Given the description of an element on the screen output the (x, y) to click on. 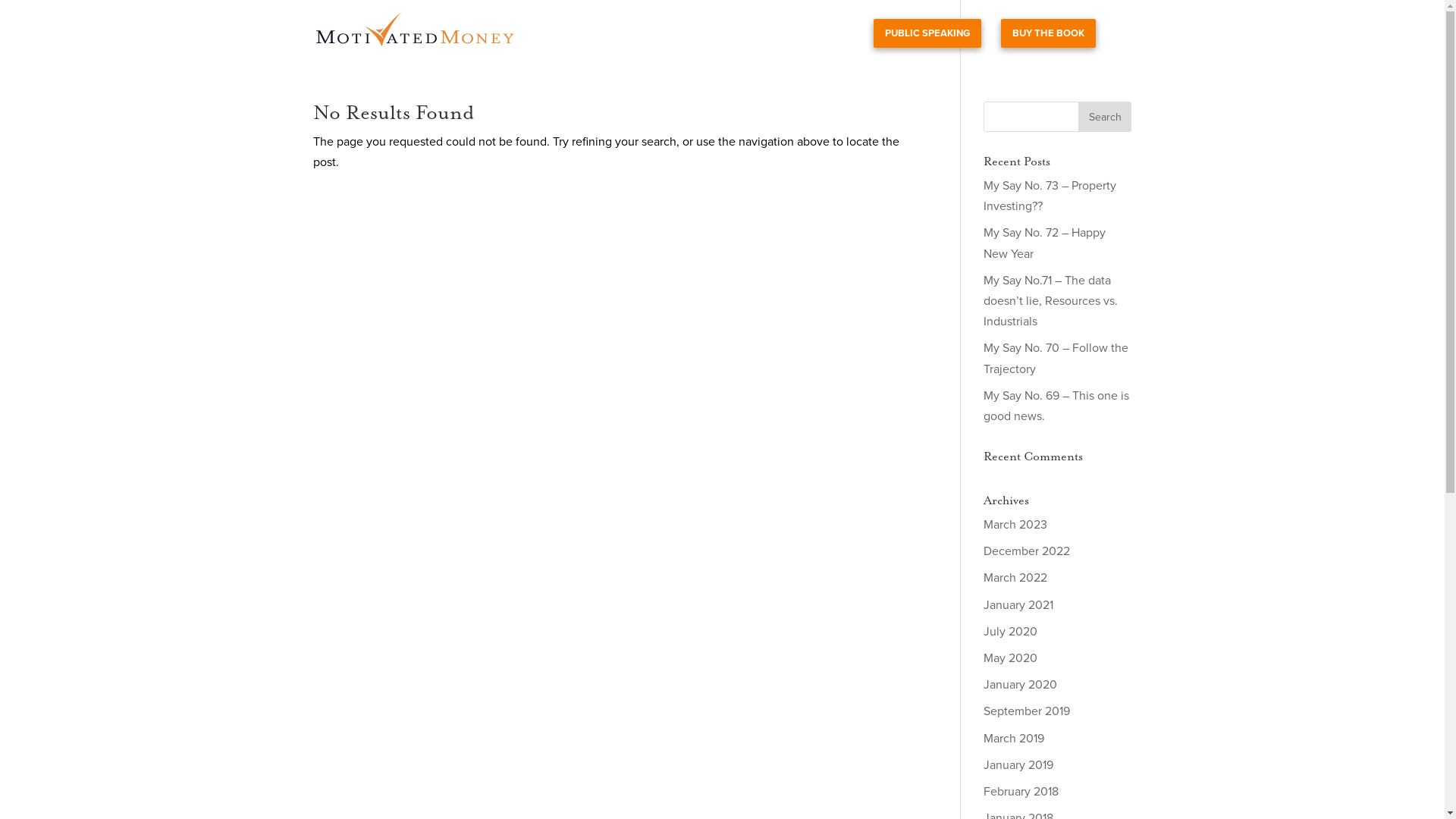
July 2020 Element type: text (1010, 631)
February 2018 Element type: text (1020, 791)
PUBLIC SPEAKING Element type: text (927, 32)
May 2020 Element type: text (1010, 657)
BUY THE BOOK Element type: text (1048, 32)
January 2019 Element type: text (1018, 764)
December 2022 Element type: text (1026, 550)
My Say Element type: text (836, 42)
January 2020 Element type: text (1020, 684)
March 2022 Element type: text (1015, 577)
March 2019 Element type: text (1013, 738)
September 2019 Element type: text (1026, 710)
January 2021 Element type: text (1018, 604)
Videos Element type: text (781, 42)
Reading Element type: text (725, 42)
Search Element type: text (1104, 116)
March 2023 Element type: text (1015, 524)
